Given the description of an element on the screen output the (x, y) to click on. 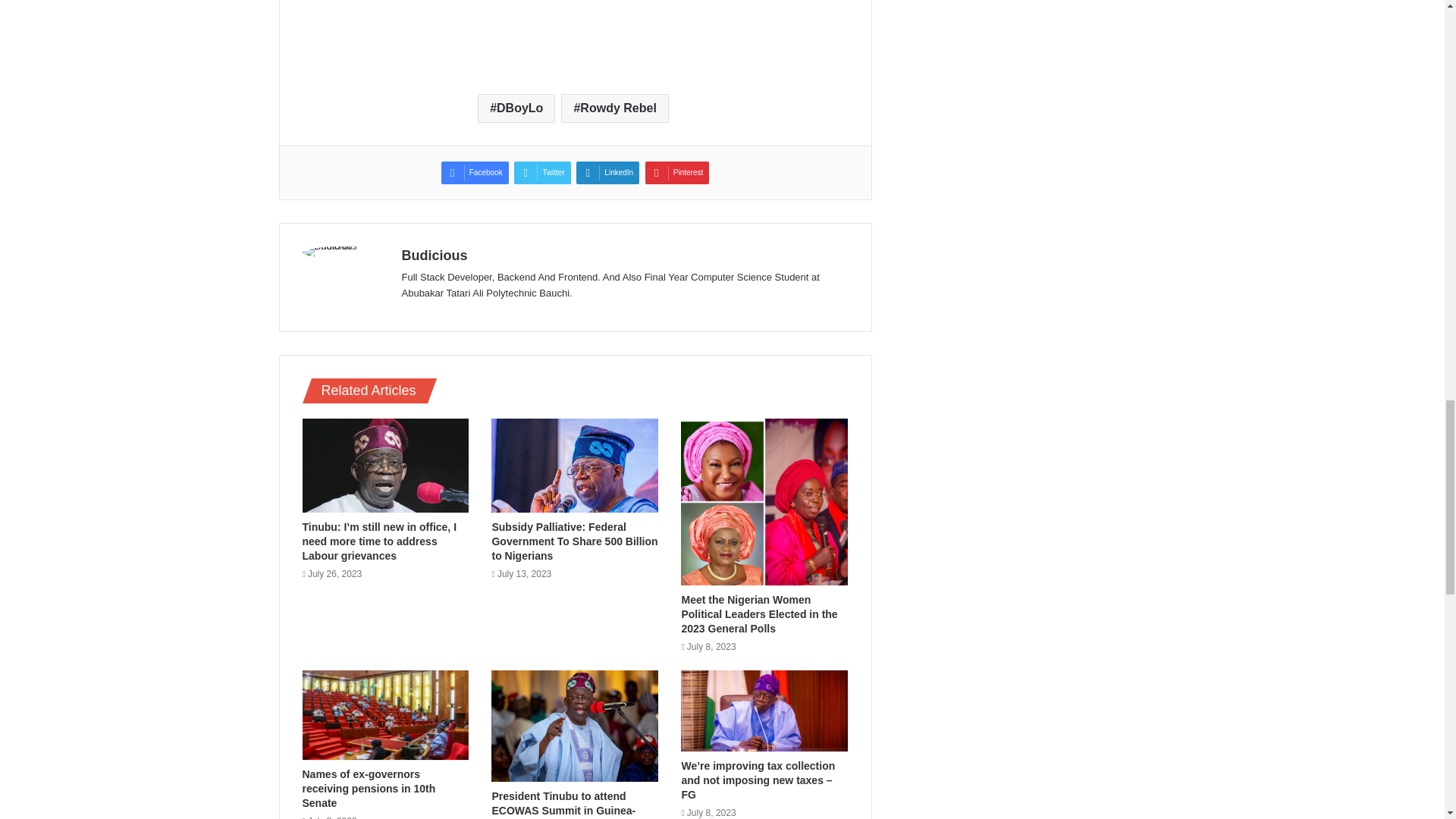
Twitter (541, 172)
Budicious (434, 255)
Rowdy Rebel (614, 108)
DBoyLo (515, 108)
Facebook (474, 172)
LinkedIn (607, 172)
LinkedIn (607, 172)
Twitter (541, 172)
Facebook (474, 172)
Pinterest (677, 172)
